Given the description of an element on the screen output the (x, y) to click on. 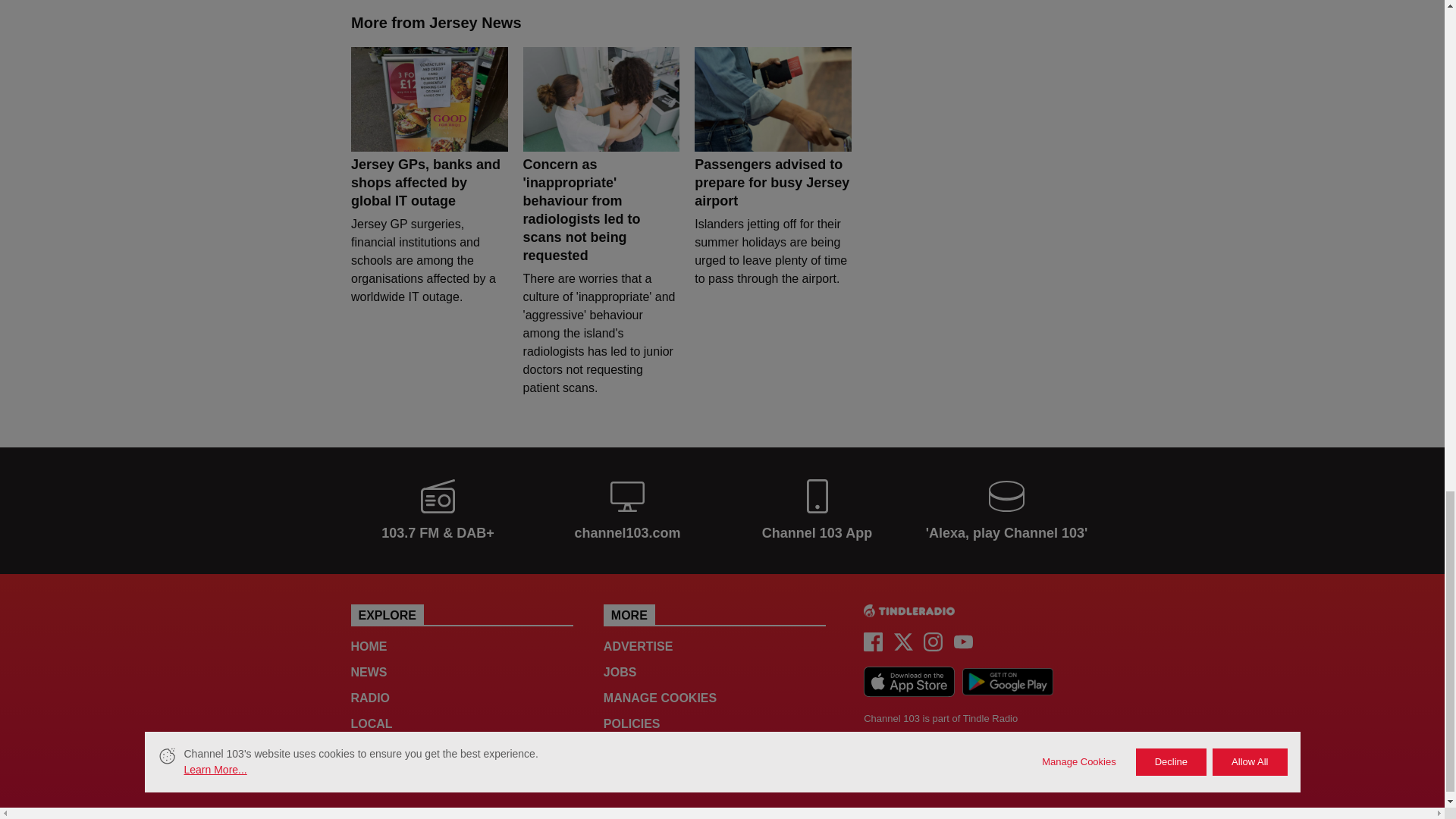
Aiir radio website CMS (882, 751)
